Given the description of an element on the screen output the (x, y) to click on. 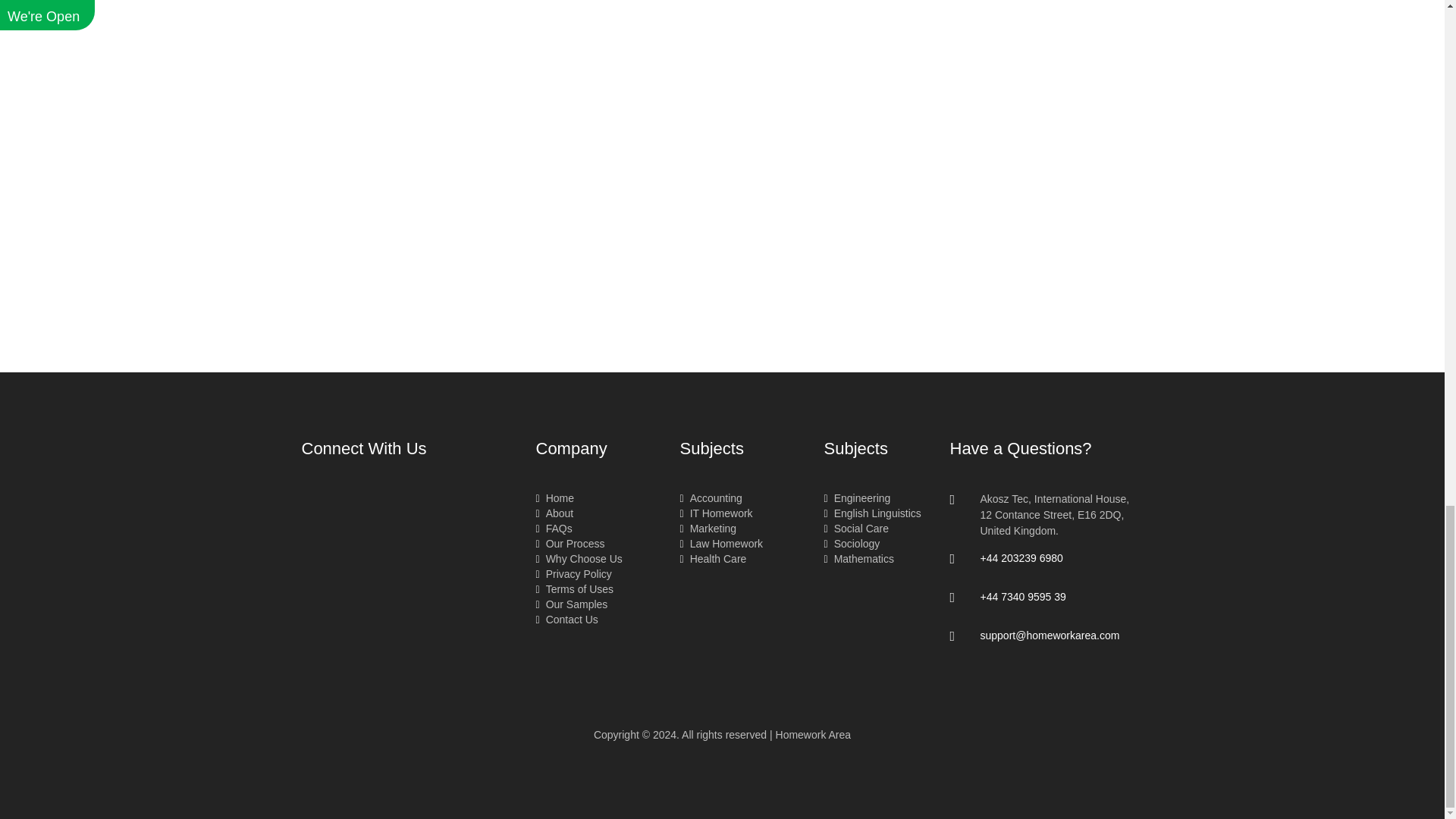
Home (554, 498)
Terms of Uses (573, 589)
IT Homework (715, 512)
Our Process (569, 543)
Our Samples (571, 604)
About (554, 512)
FAQs (553, 528)
Health Care (712, 558)
Marketing (707, 528)
Contact Us (565, 619)
English Linguistics (872, 512)
Engineering (856, 498)
Why Choose Us (578, 558)
Privacy Policy (573, 573)
Accounting (710, 498)
